Given the description of an element on the screen output the (x, y) to click on. 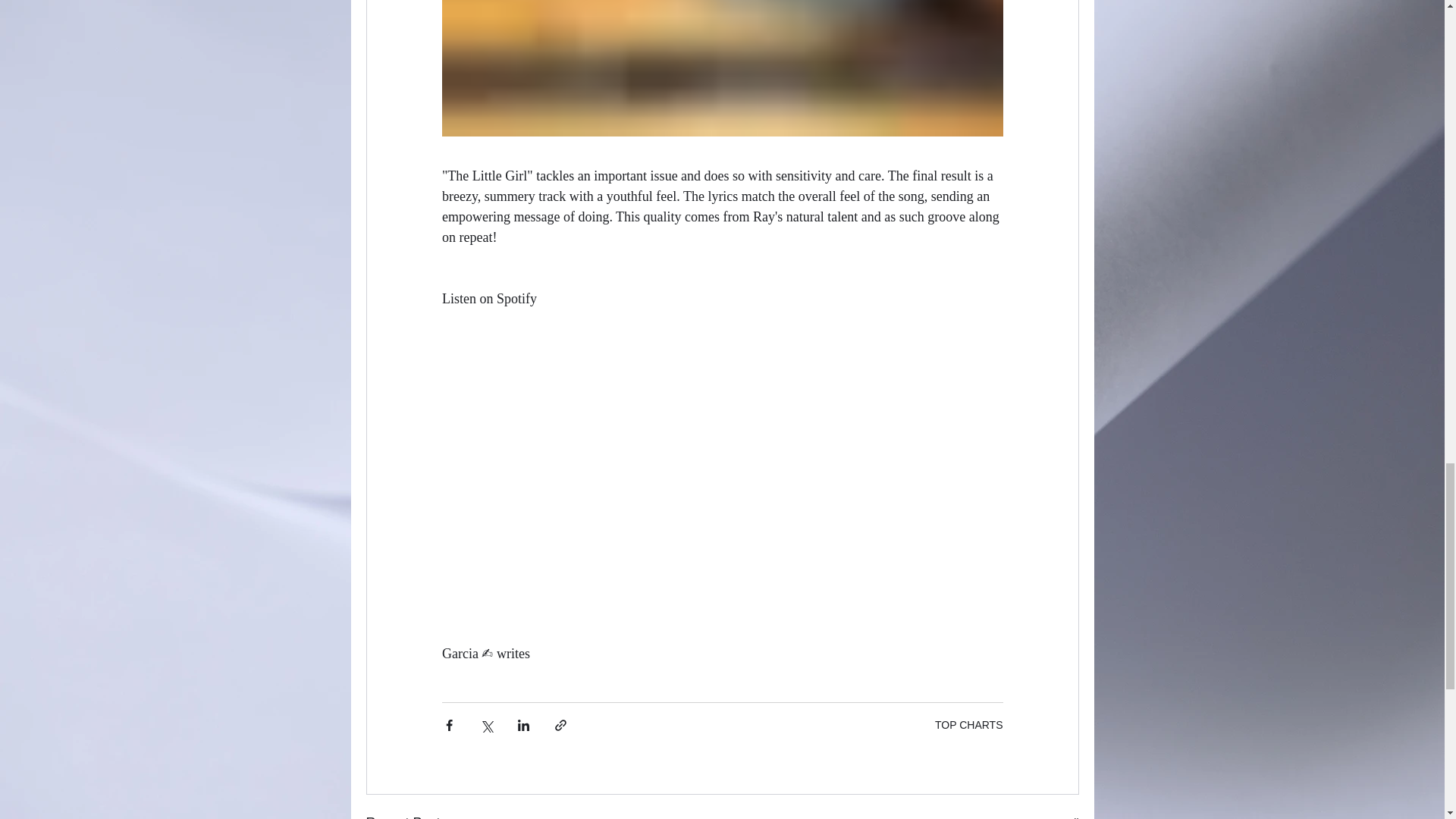
See All (1061, 815)
TOP CHARTS (968, 725)
